Given the description of an element on the screen output the (x, y) to click on. 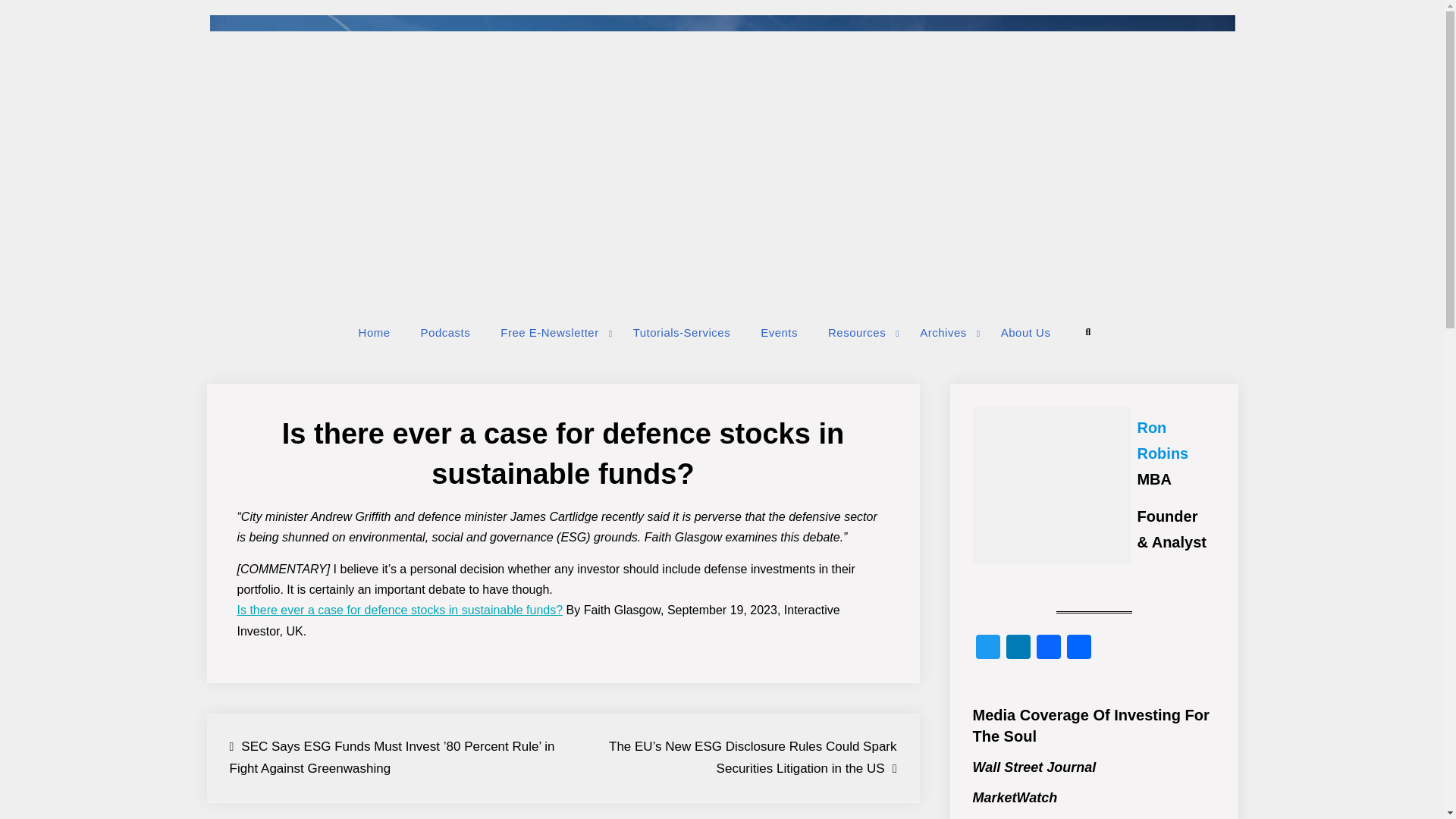
About Us (1025, 332)
Podcasts (446, 332)
Search (1087, 332)
Free E-Newsletter (550, 332)
Twitter (987, 648)
Twitter (987, 648)
Home (374, 332)
Archives (944, 332)
Facebook (1047, 648)
